Given the description of an element on the screen output the (x, y) to click on. 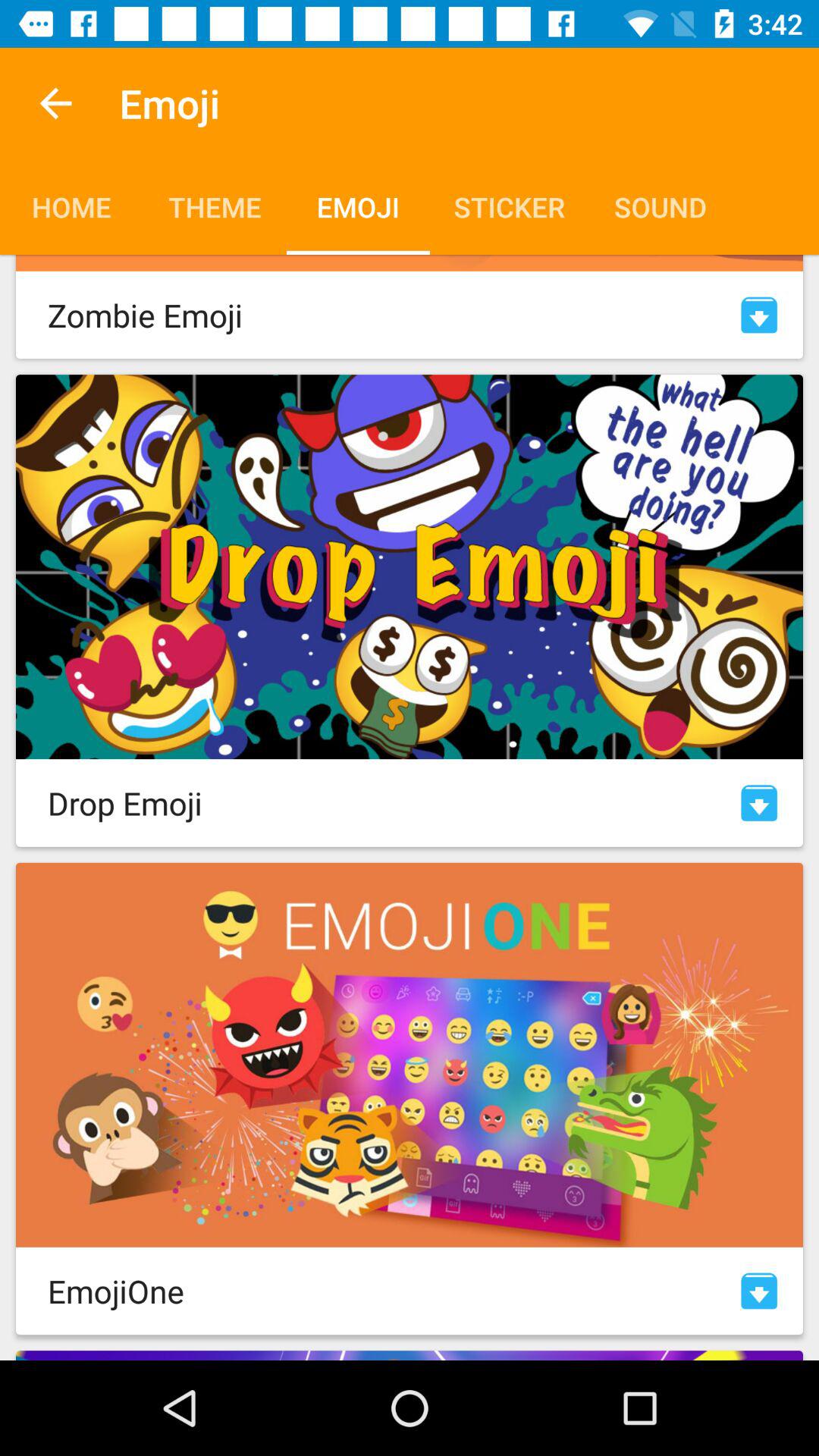
download zombie emoji (759, 314)
